Given the description of an element on the screen output the (x, y) to click on. 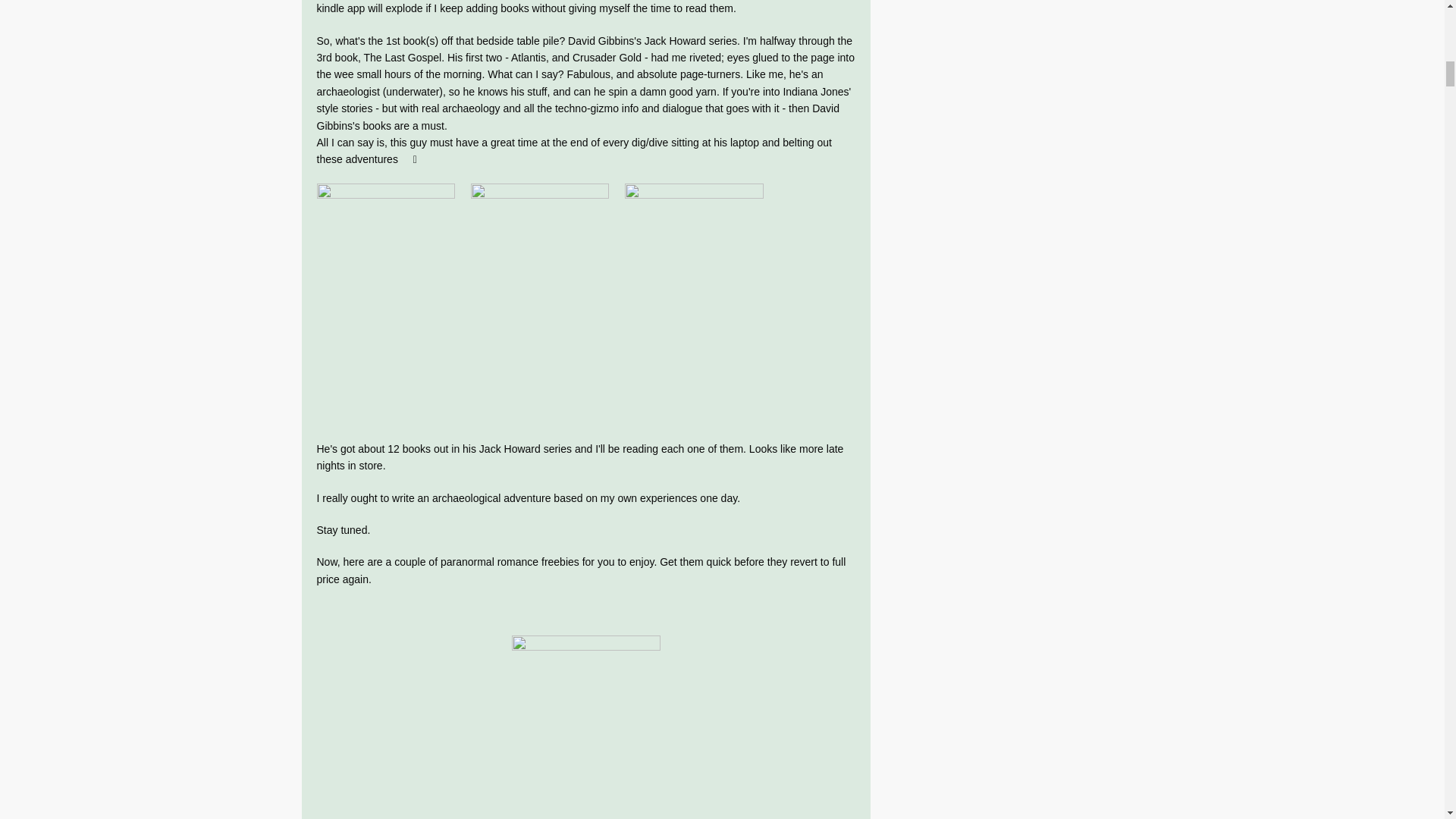
smile emoticon (408, 159)
